Given the description of an element on the screen output the (x, y) to click on. 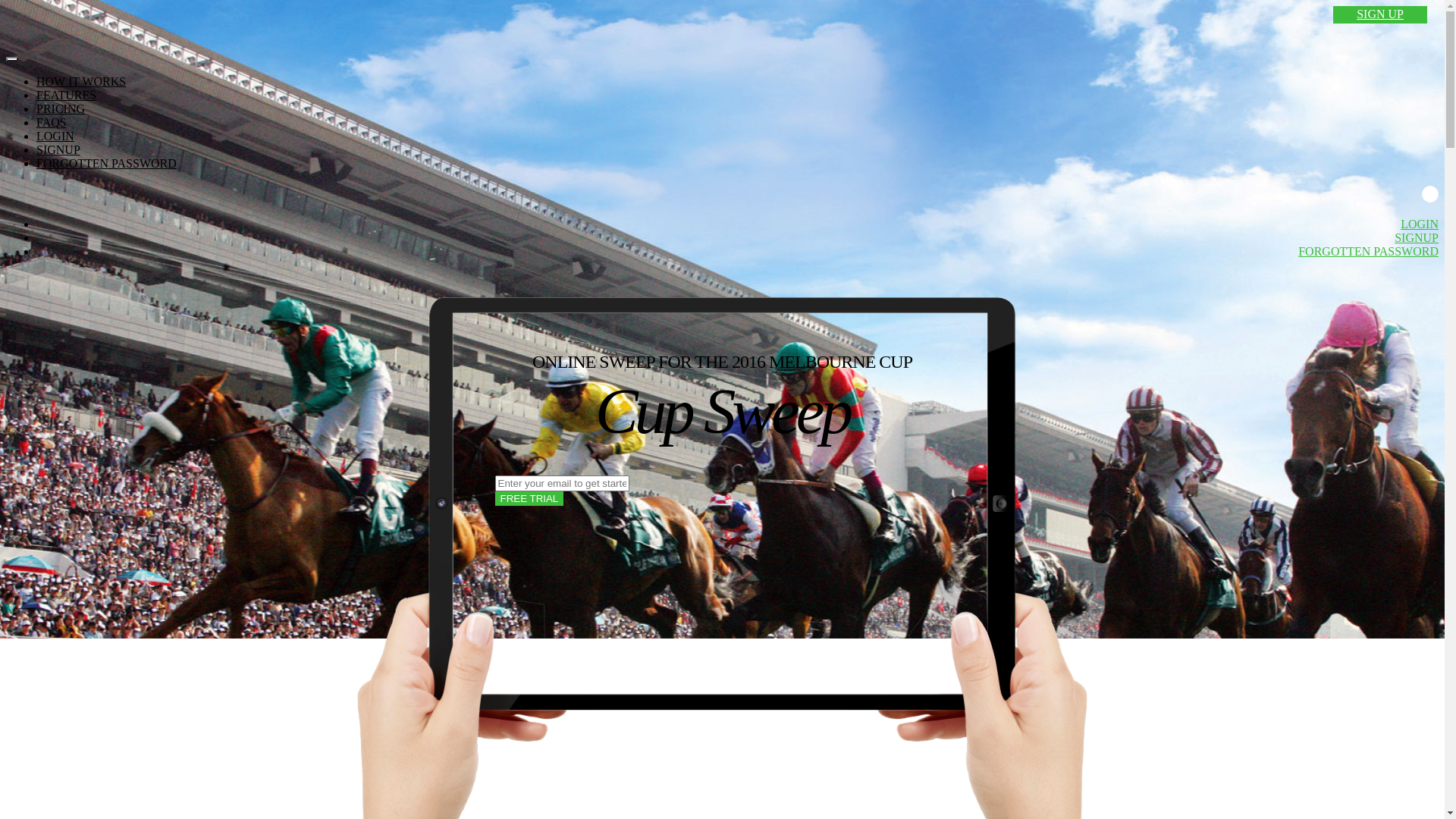
Toggle navigation Element type: text (12, 58)
SIGNUP Element type: text (1416, 237)
LOGIN Element type: text (55, 135)
FEATURES Element type: text (66, 94)
FAQS Element type: text (51, 122)
LOGIN Element type: text (1419, 223)
SIGNUP Element type: text (58, 149)
SIGN UP Element type: text (1380, 14)
FREE TRIAL Element type: text (528, 498)
FORGOTTEN PASSWORD Element type: text (1368, 250)
HOW IT WORKS Element type: text (80, 81)
FORGOTTEN PASSWORD Element type: text (106, 162)
PRICING Element type: text (60, 108)
